Given the description of an element on the screen output the (x, y) to click on. 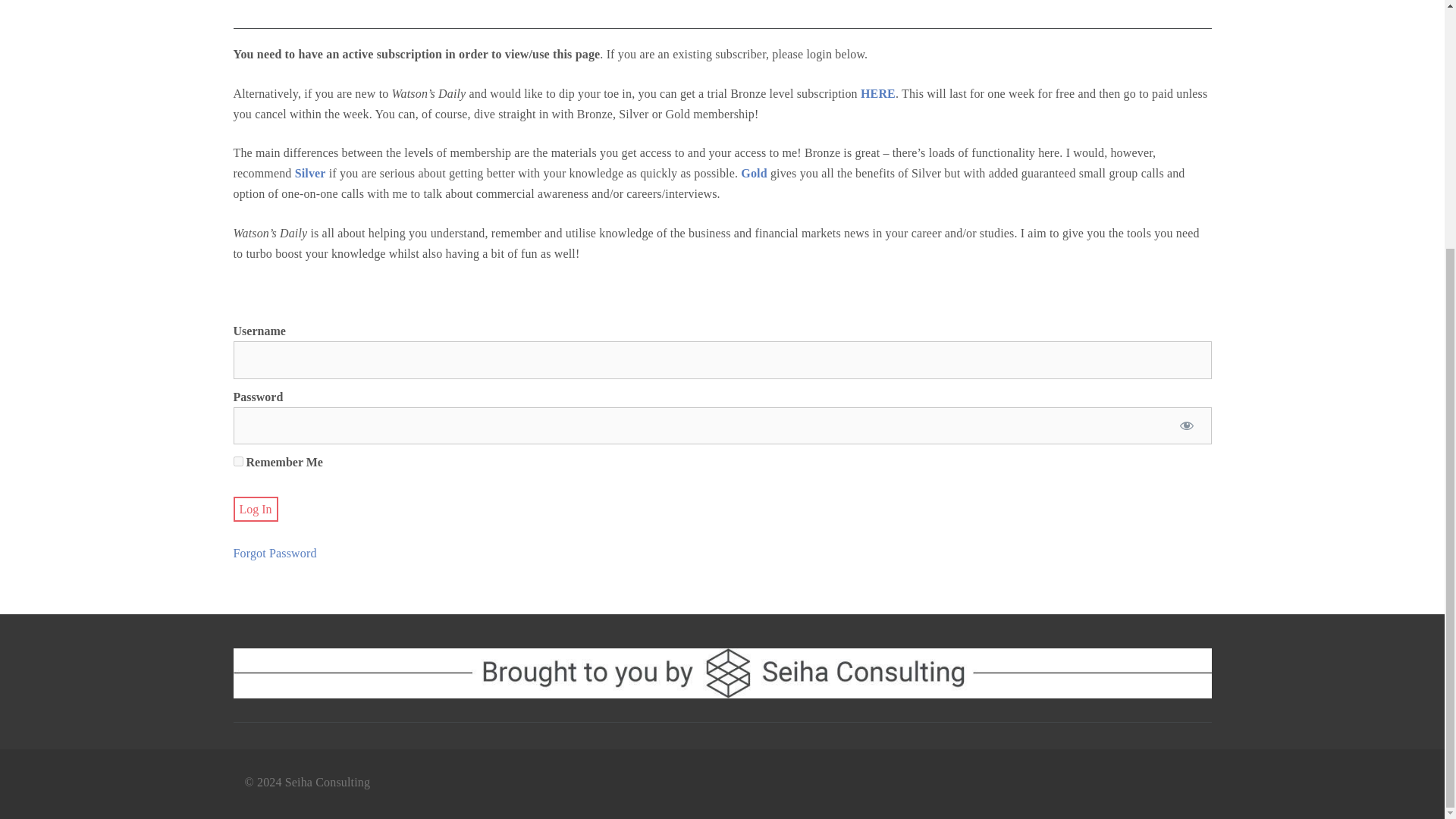
HERE (877, 92)
Gold (754, 173)
Silver (310, 173)
Log In (255, 508)
forever (237, 461)
Log In (255, 508)
Forgot Password (274, 553)
